Given the description of an element on the screen output the (x, y) to click on. 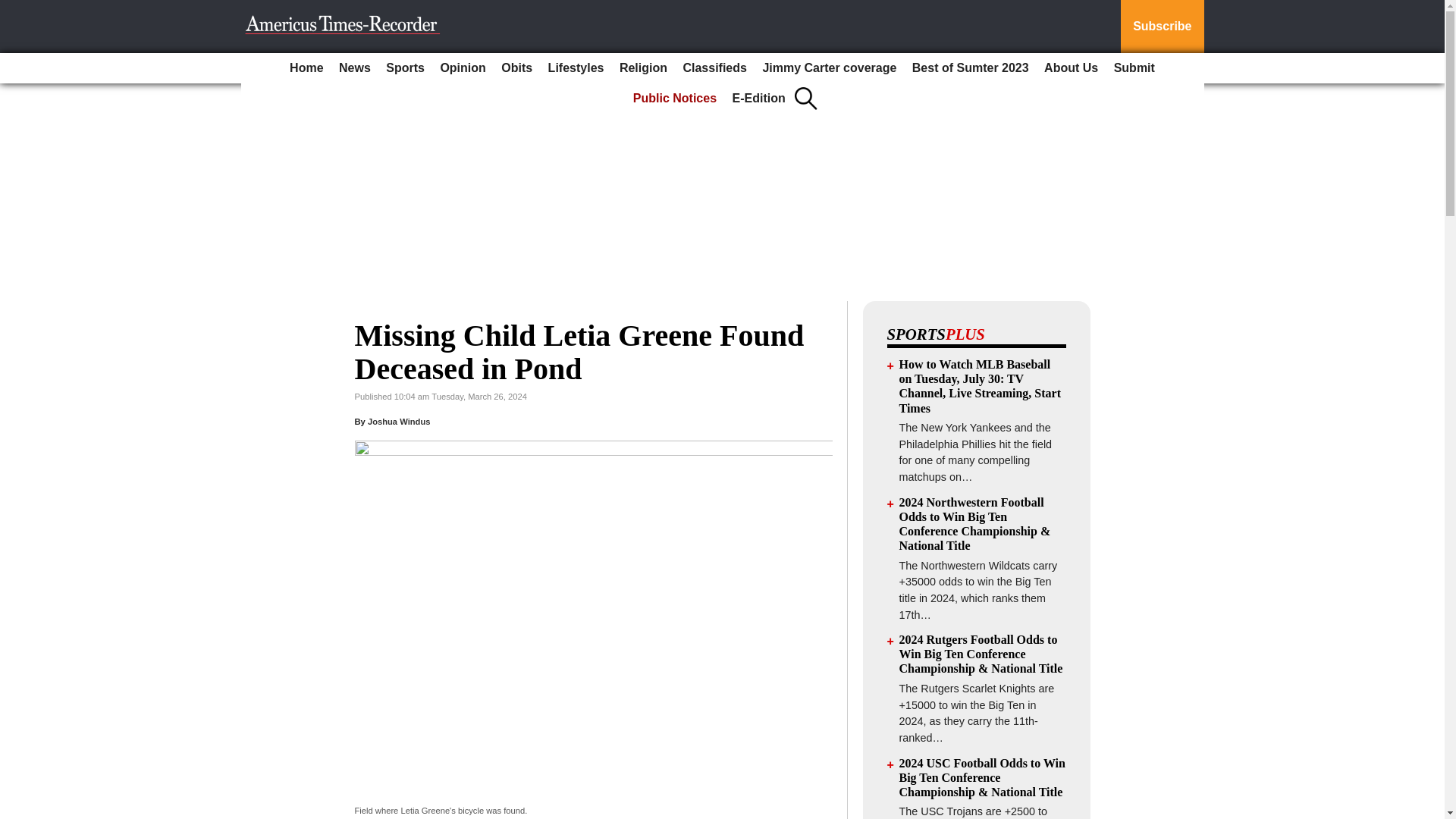
Jimmy Carter coverage (828, 68)
Home (306, 68)
Joshua Windus (399, 420)
News (355, 68)
Religion (642, 68)
E-Edition (759, 98)
Sports (405, 68)
Go (13, 9)
Public Notices (674, 98)
Subscribe (1162, 26)
Opinion (462, 68)
Obits (516, 68)
Classifieds (714, 68)
Best of Sumter 2023 (970, 68)
Lifestyles (575, 68)
